Given the description of an element on the screen output the (x, y) to click on. 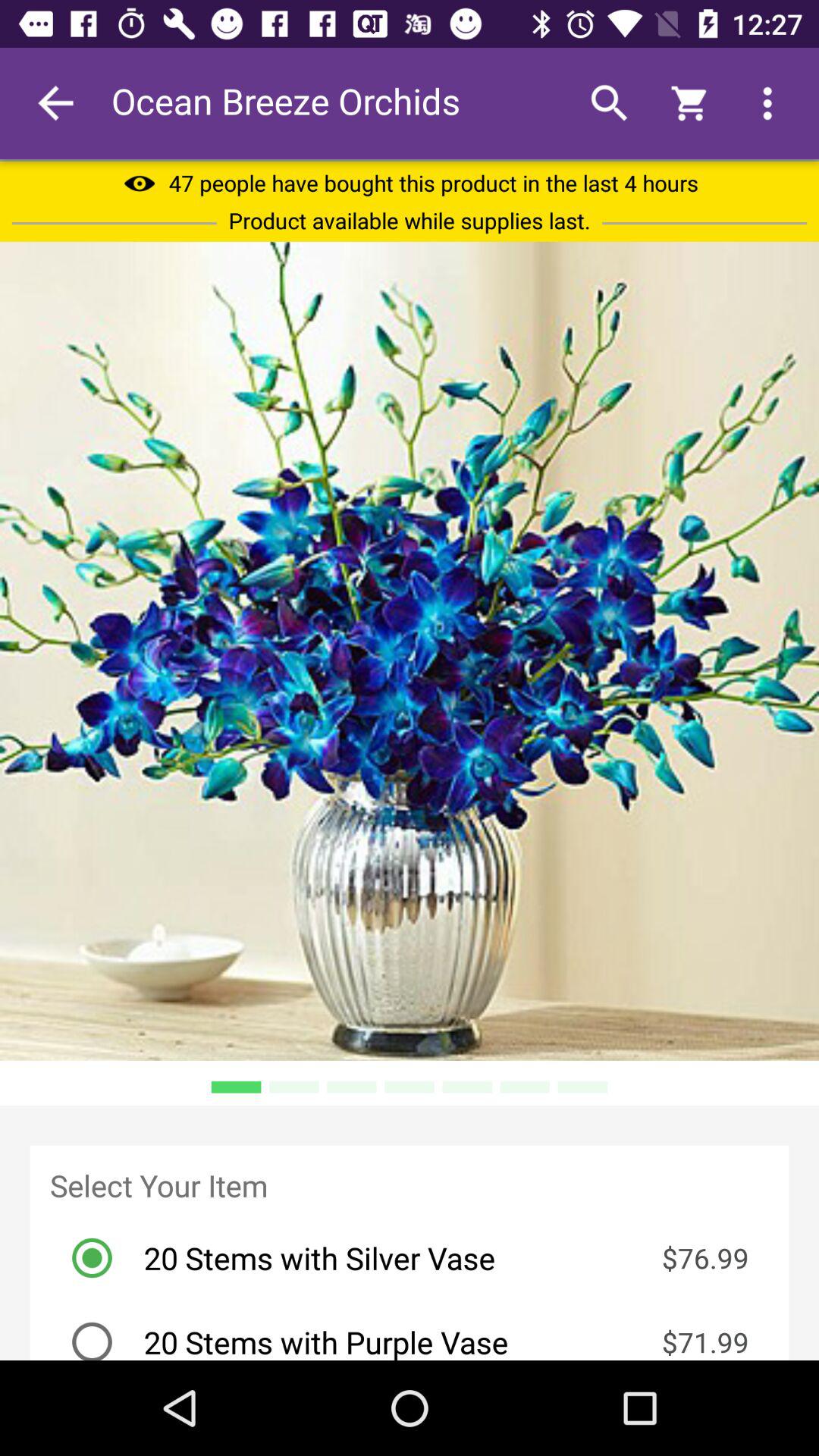
tap the item below product available while (409, 650)
